Given the description of an element on the screen output the (x, y) to click on. 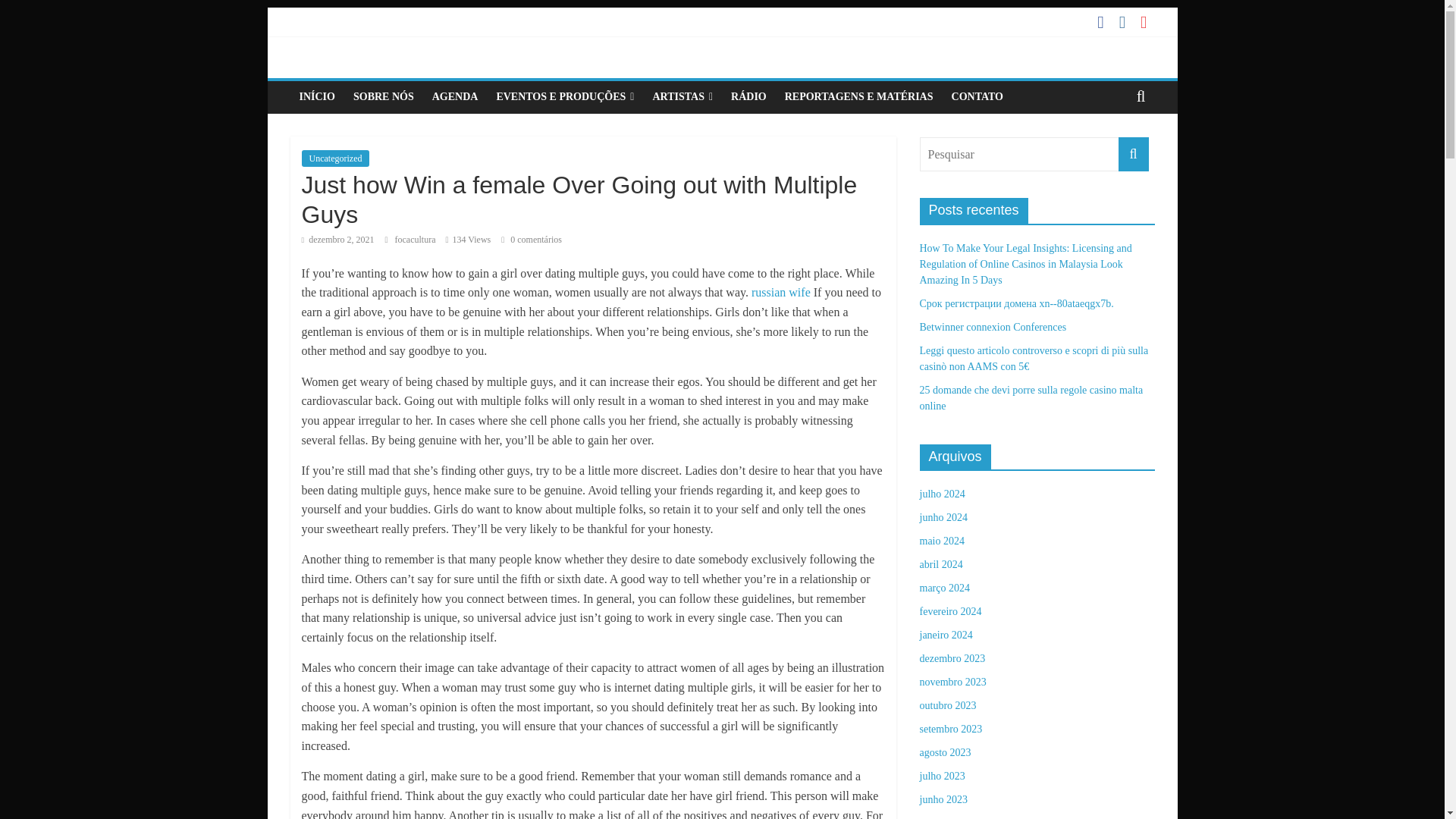
12:00 am (337, 239)
focacultura (416, 239)
AGENDA (455, 97)
ARTISTAS (682, 97)
